Given the description of an element on the screen output the (x, y) to click on. 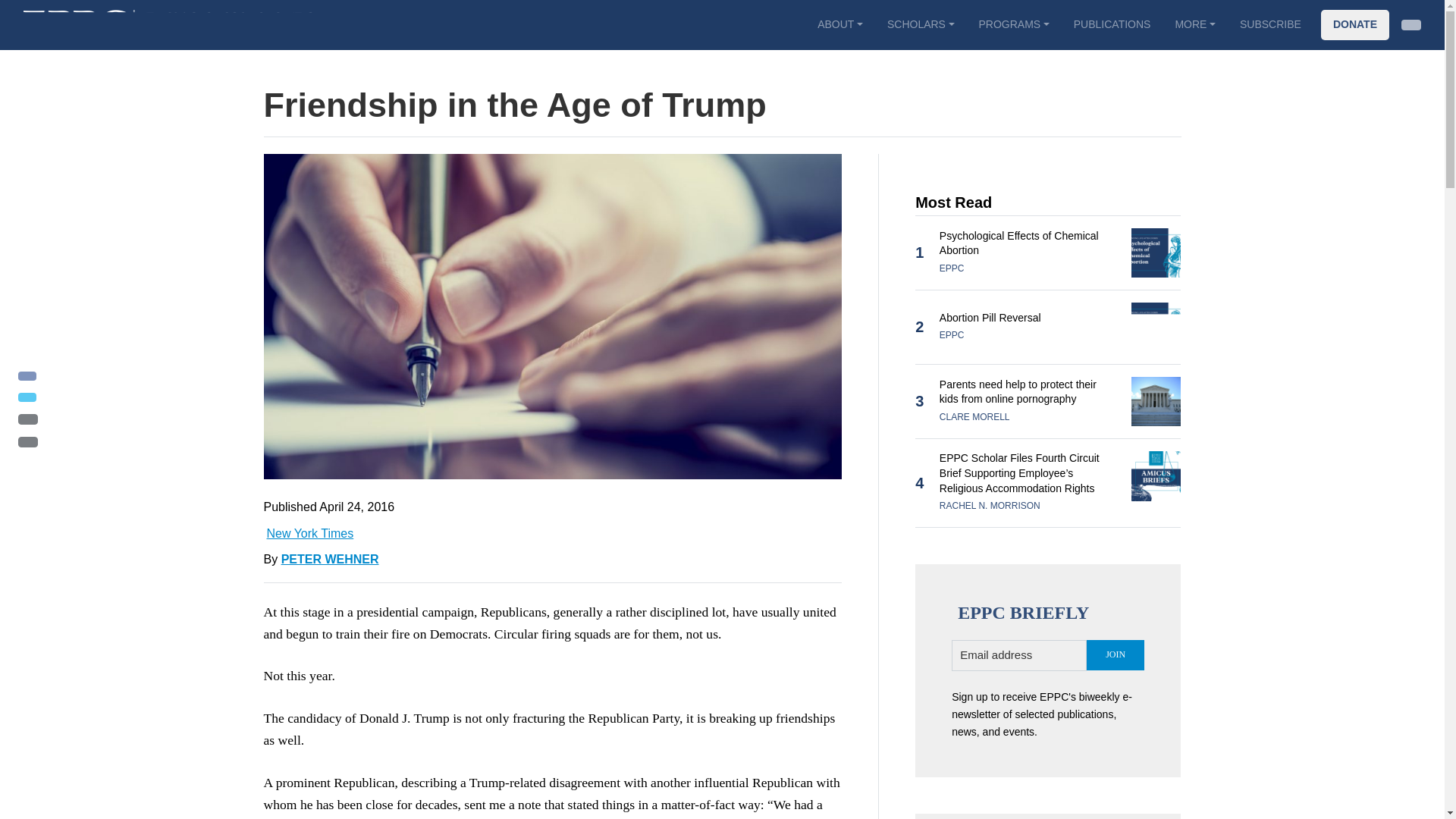
JOIN (1115, 654)
SCHOLARS (920, 24)
ABOUT (840, 24)
